Given the description of an element on the screen output the (x, y) to click on. 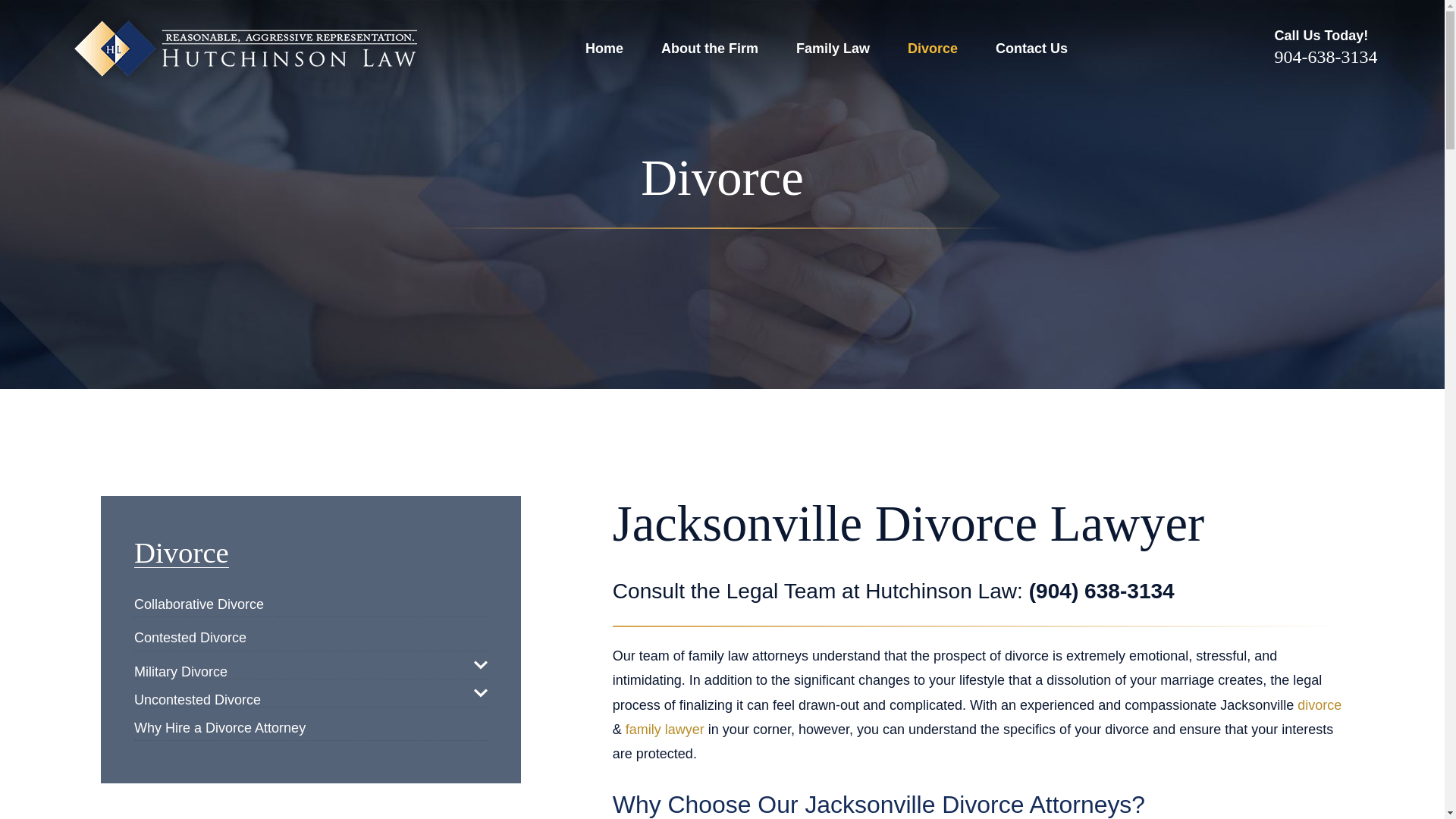
Open child menu of Military Divorce (480, 664)
Home (241, 48)
About the Firm (709, 48)
Open child menu of Uncontested Divorce (480, 693)
Family Law (832, 48)
